Given the description of an element on the screen output the (x, y) to click on. 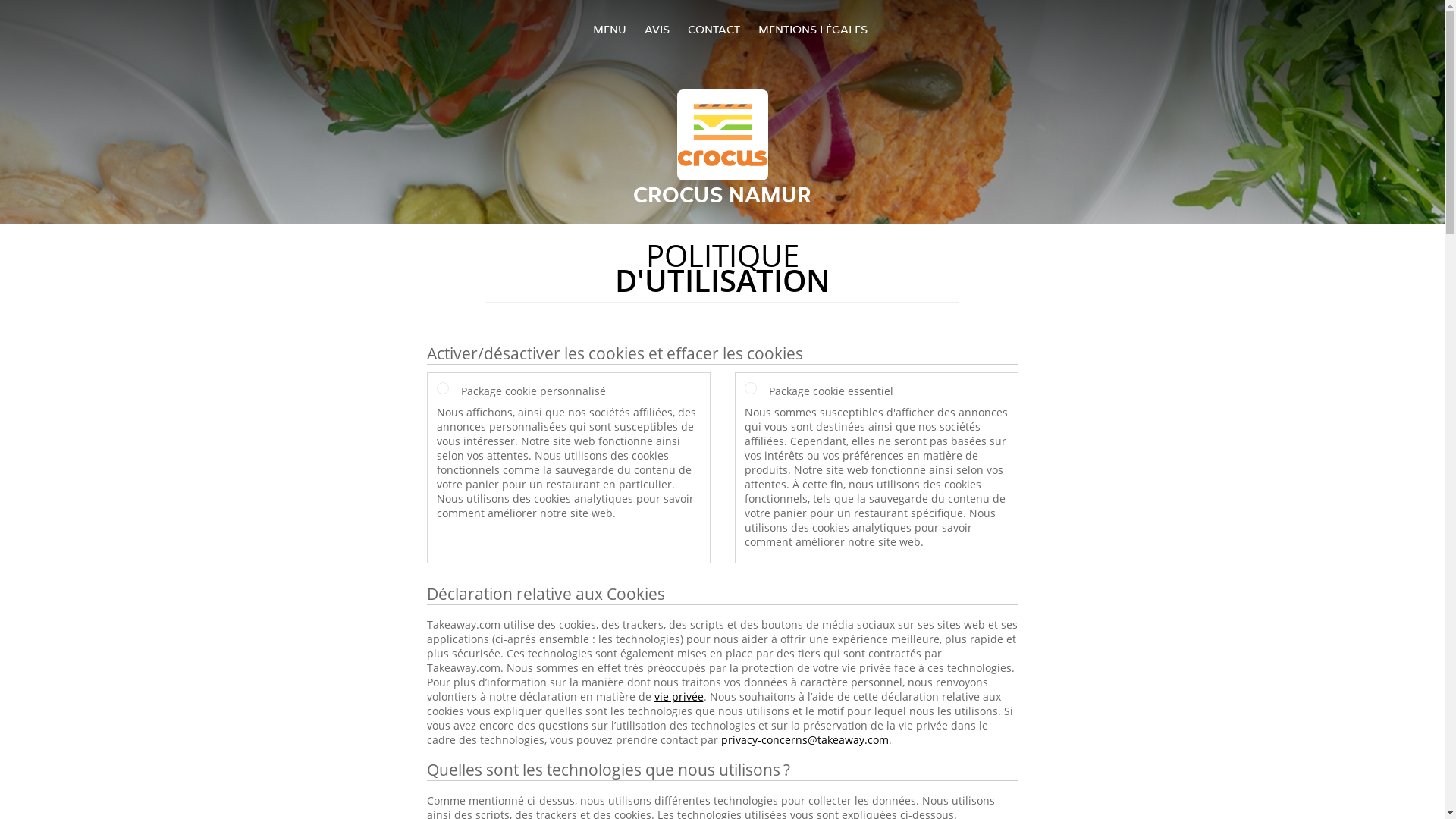
AVIS Element type: text (656, 29)
CONTACT Element type: text (713, 29)
privacy-concerns@takeaway.com Element type: text (804, 739)
MENU Element type: text (609, 29)
